Given the description of an element on the screen output the (x, y) to click on. 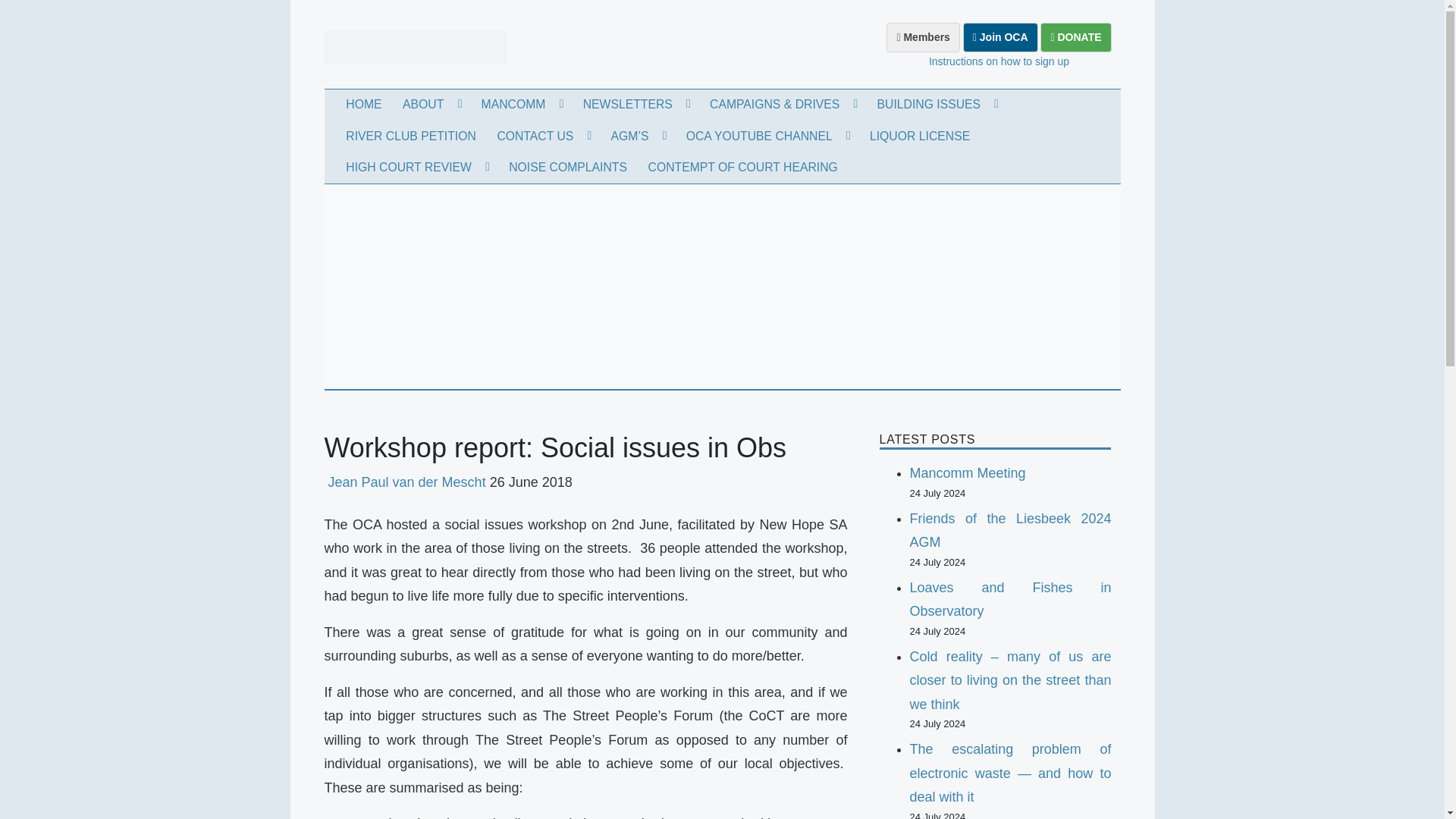
DONATE (1075, 37)
Members (922, 37)
HOME (362, 104)
Join OCA (1000, 37)
ABOUT (430, 104)
NEWSLETTERS (635, 104)
MANCOMM (521, 104)
OBSERVATORY CIVIC ASSOCIATION (436, 121)
Instructions on how to sign up (998, 60)
